Given the description of an element on the screen output the (x, y) to click on. 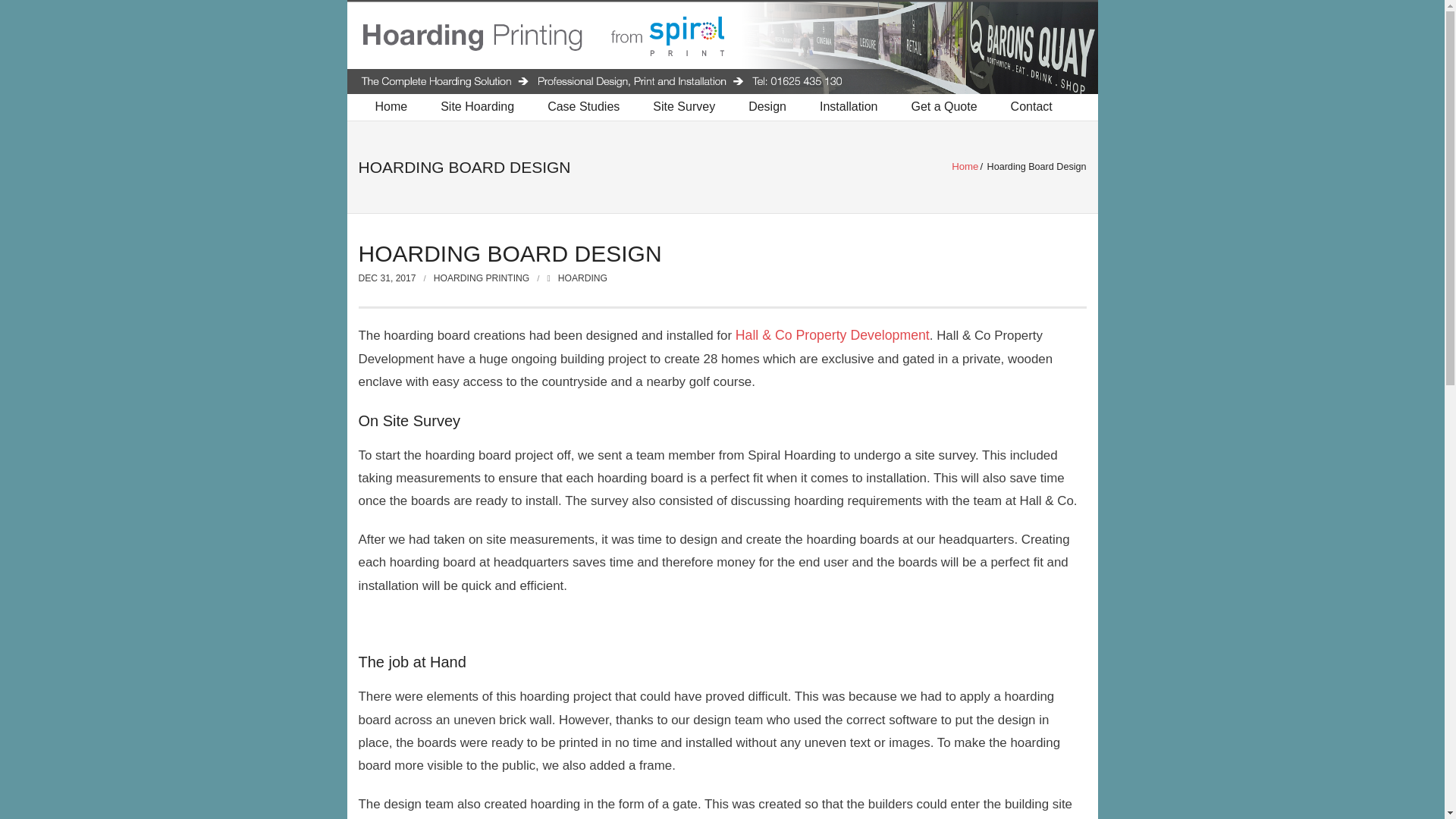
HOARDING PRINTING (481, 277)
Home (965, 165)
Design (767, 107)
Home (390, 107)
Hoarding Board Design (386, 277)
Site Hoarding (477, 107)
Site Survey (684, 107)
Installation (849, 107)
Get a Quote (942, 107)
HOARDING (582, 277)
Contact (1031, 107)
Case Studies (583, 107)
DEC 31, 2017 (386, 277)
View all posts by Hoarding Printing (481, 277)
